Given the description of an element on the screen output the (x, y) to click on. 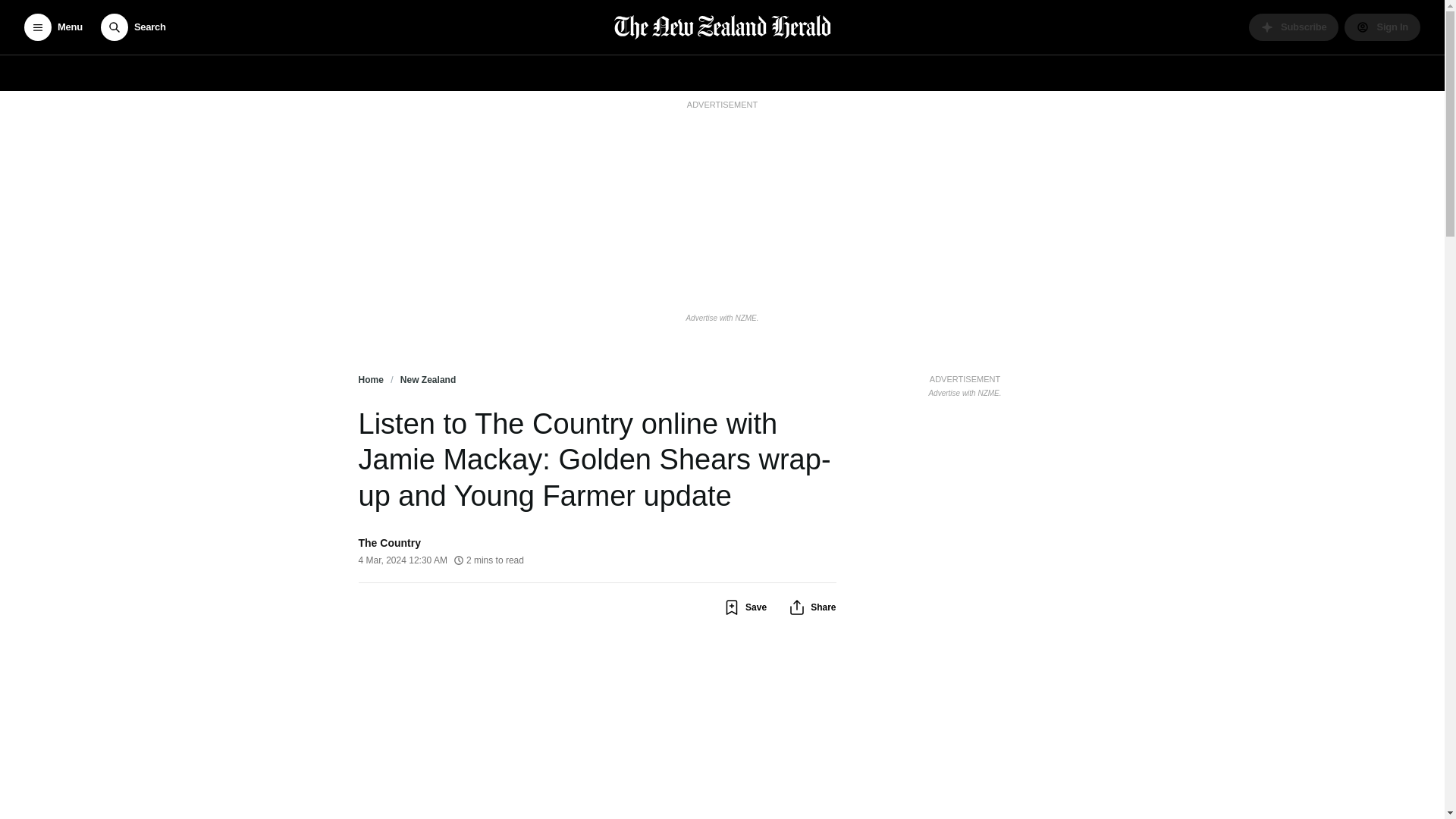
Menu (53, 26)
Manage your account (1382, 26)
Sign In (1382, 26)
Search (132, 26)
Subscribe (1294, 26)
